Given the description of an element on the screen output the (x, y) to click on. 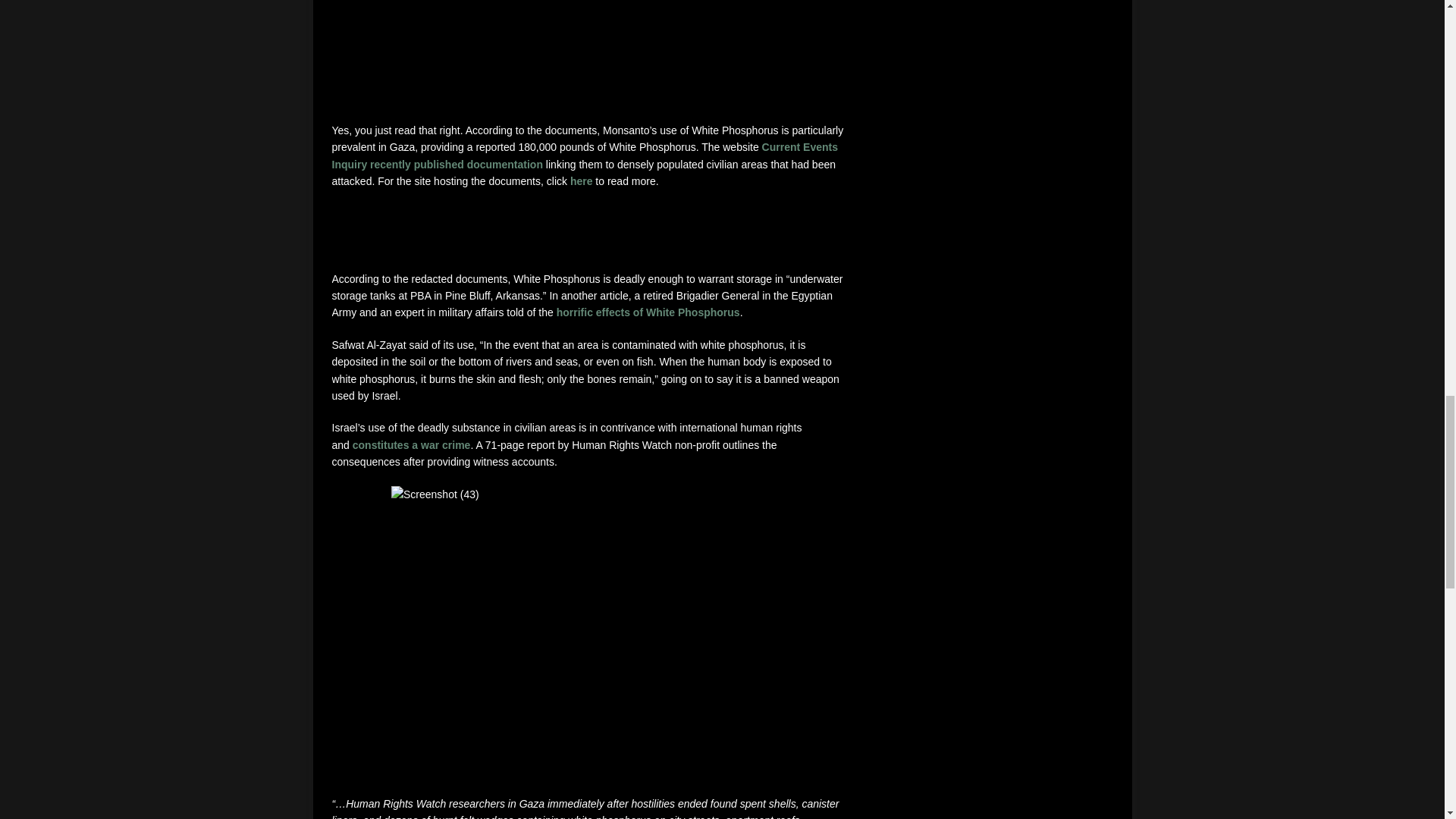
here (581, 181)
constitutes a war crime (411, 444)
Current Events Inquiry recently published documentation (584, 154)
horrific effects of White Phosphorus (647, 312)
